Given the description of an element on the screen output the (x, y) to click on. 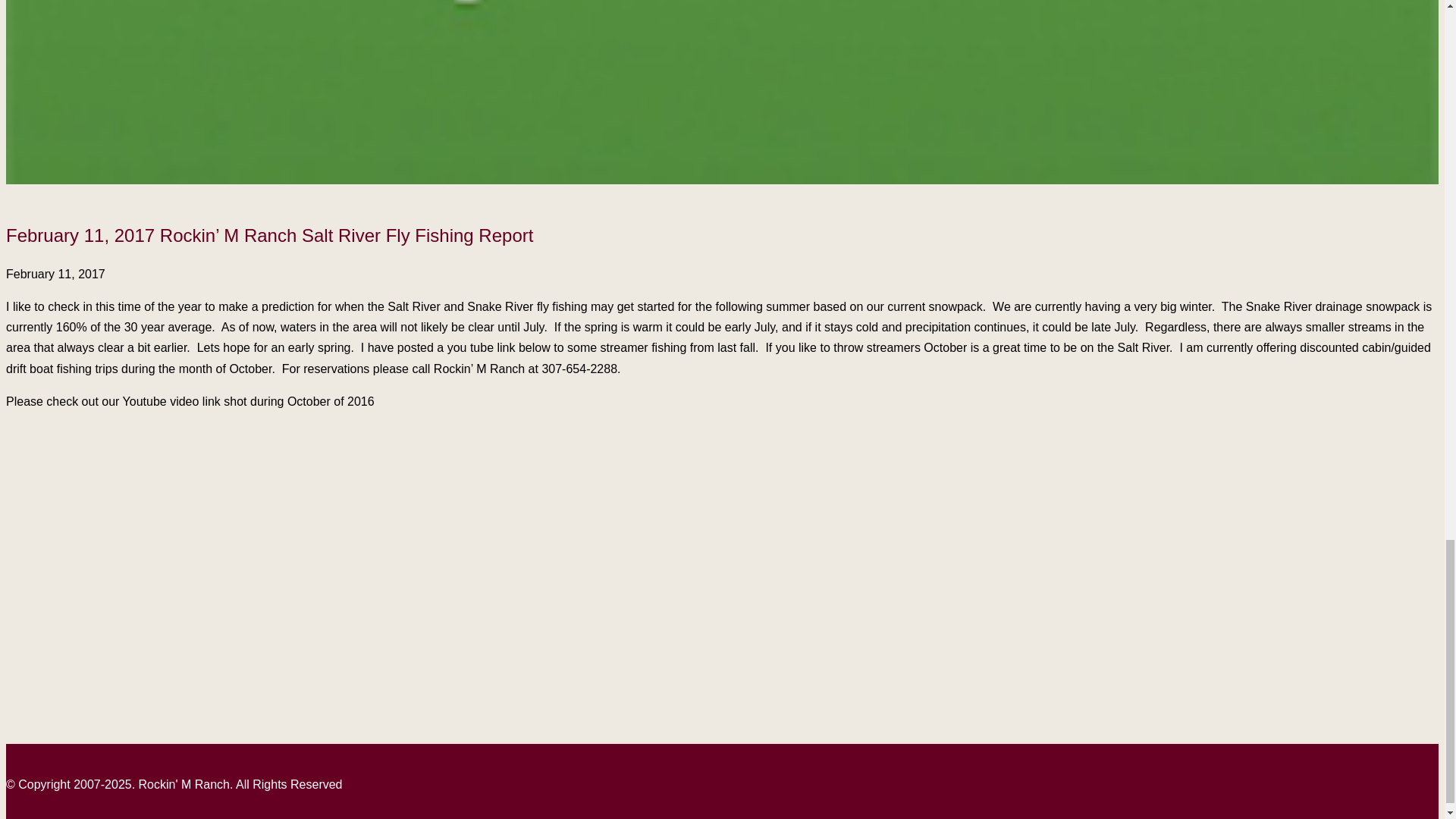
Salt River Fly Fishing (195, 530)
